Given the description of an element on the screen output the (x, y) to click on. 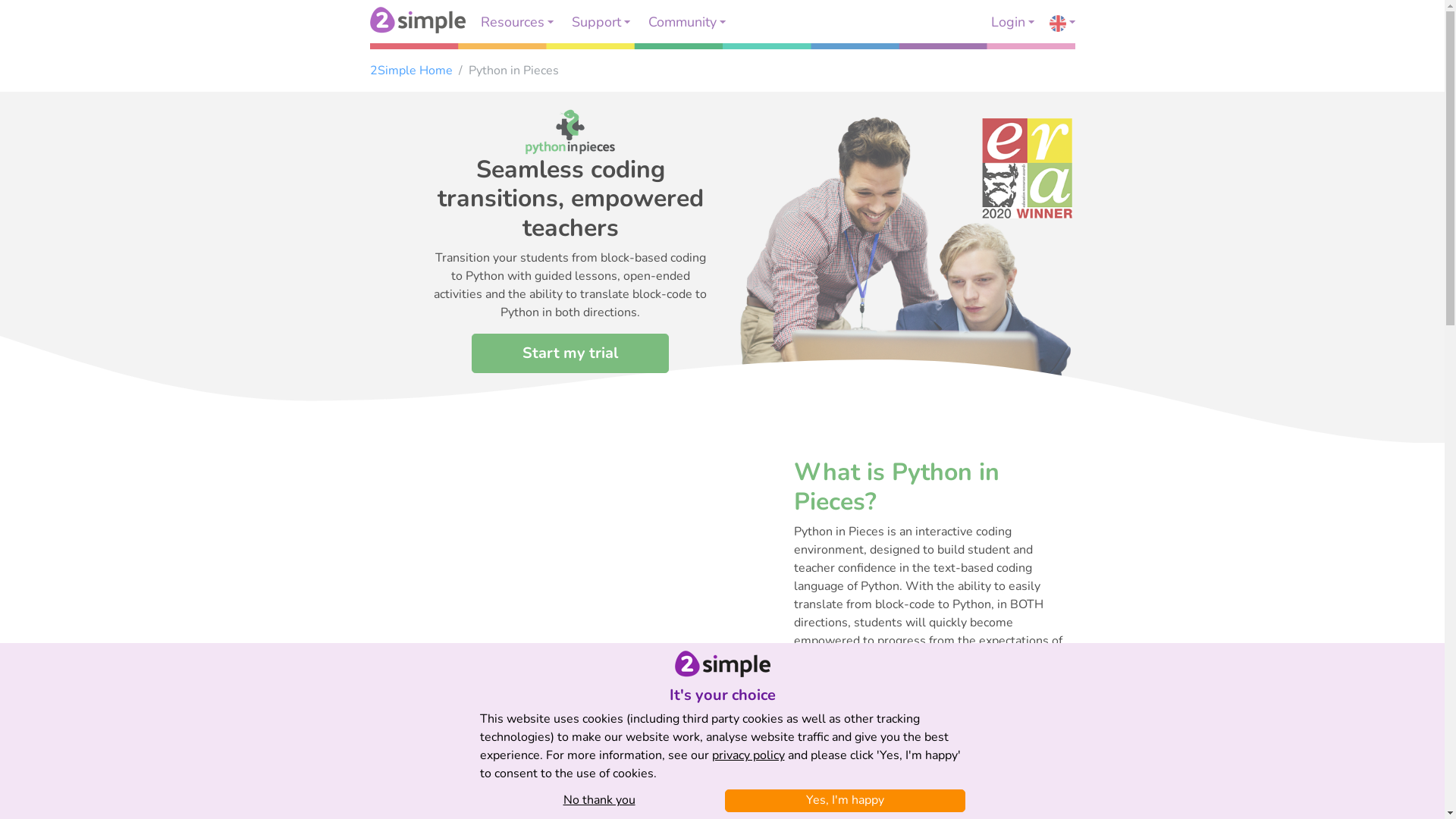
Community Element type: text (685, 21)
No thank you Element type: text (598, 799)
Yes, I'm happy Element type: text (844, 799)
Login Element type: text (1011, 21)
2Simple Home Element type: text (411, 70)
Start my trial Element type: text (569, 353)
PIP Web Case Study_3 Element type: hover (570, 583)
Support Element type: text (600, 21)
Resources Element type: text (516, 21)
Try a free lesson now Element type: text (882, 754)
privacy policy Element type: text (747, 754)
